Given the description of an element on the screen output the (x, y) to click on. 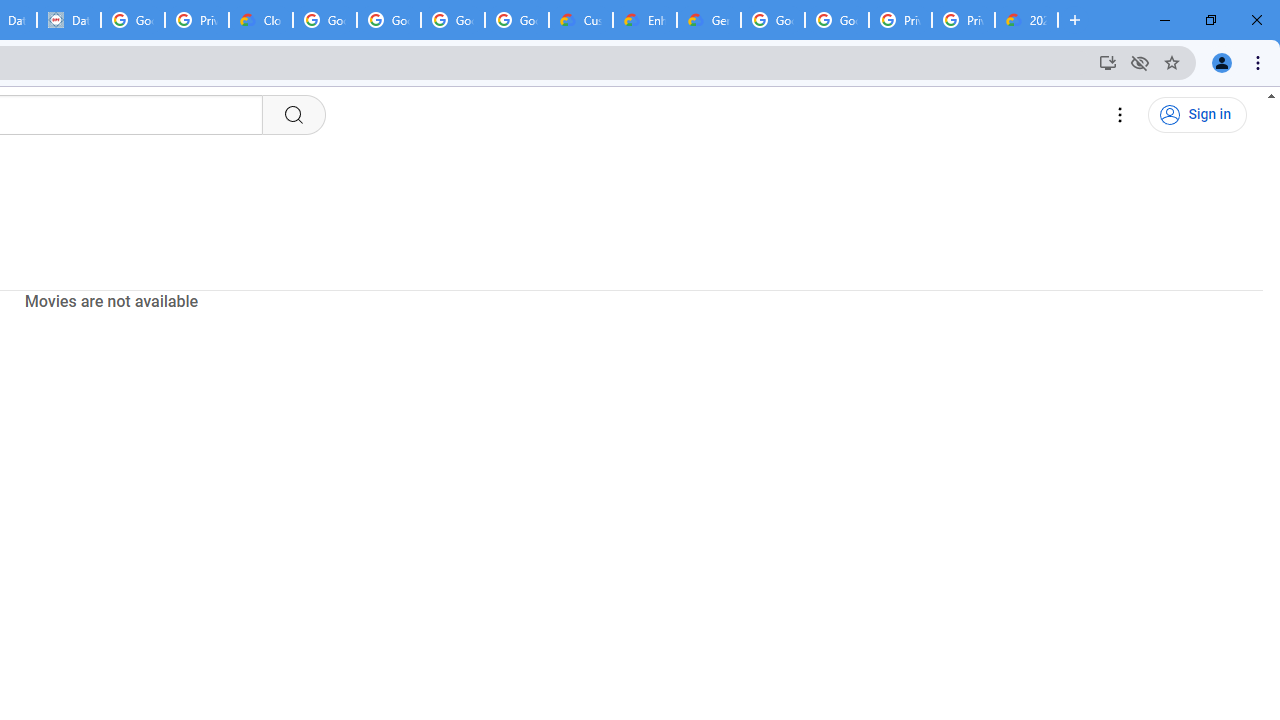
Cloud Data Processing Addendum | Google Cloud (261, 20)
Gemini for Business and Developers | Google Cloud (709, 20)
Google Workspace - Specific Terms (453, 20)
Enhanced Support | Google Cloud (645, 20)
